Given the description of an element on the screen output the (x, y) to click on. 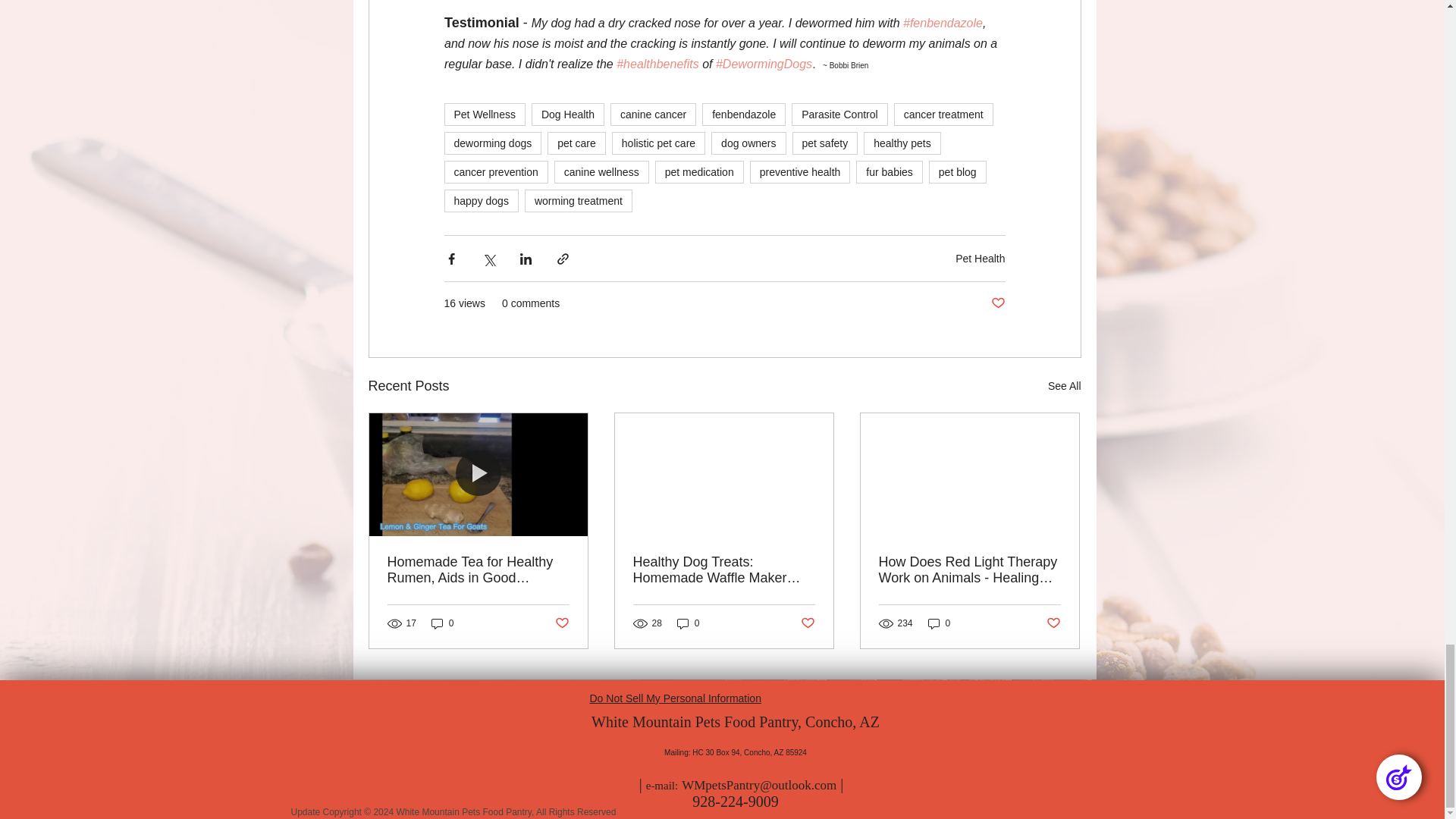
cancer treatment (942, 114)
dog owners (748, 142)
Dog Health (567, 114)
healthy pets (901, 142)
fenbendazole (743, 114)
worming treatment (577, 200)
pet blog (957, 171)
happy dogs (481, 200)
fur babies (888, 171)
holistic pet care (657, 142)
Parasite Control (839, 114)
cancer prevention (496, 171)
pet safety (824, 142)
canine wellness (601, 171)
Pet Wellness (484, 114)
